Given the description of an element on the screen output the (x, y) to click on. 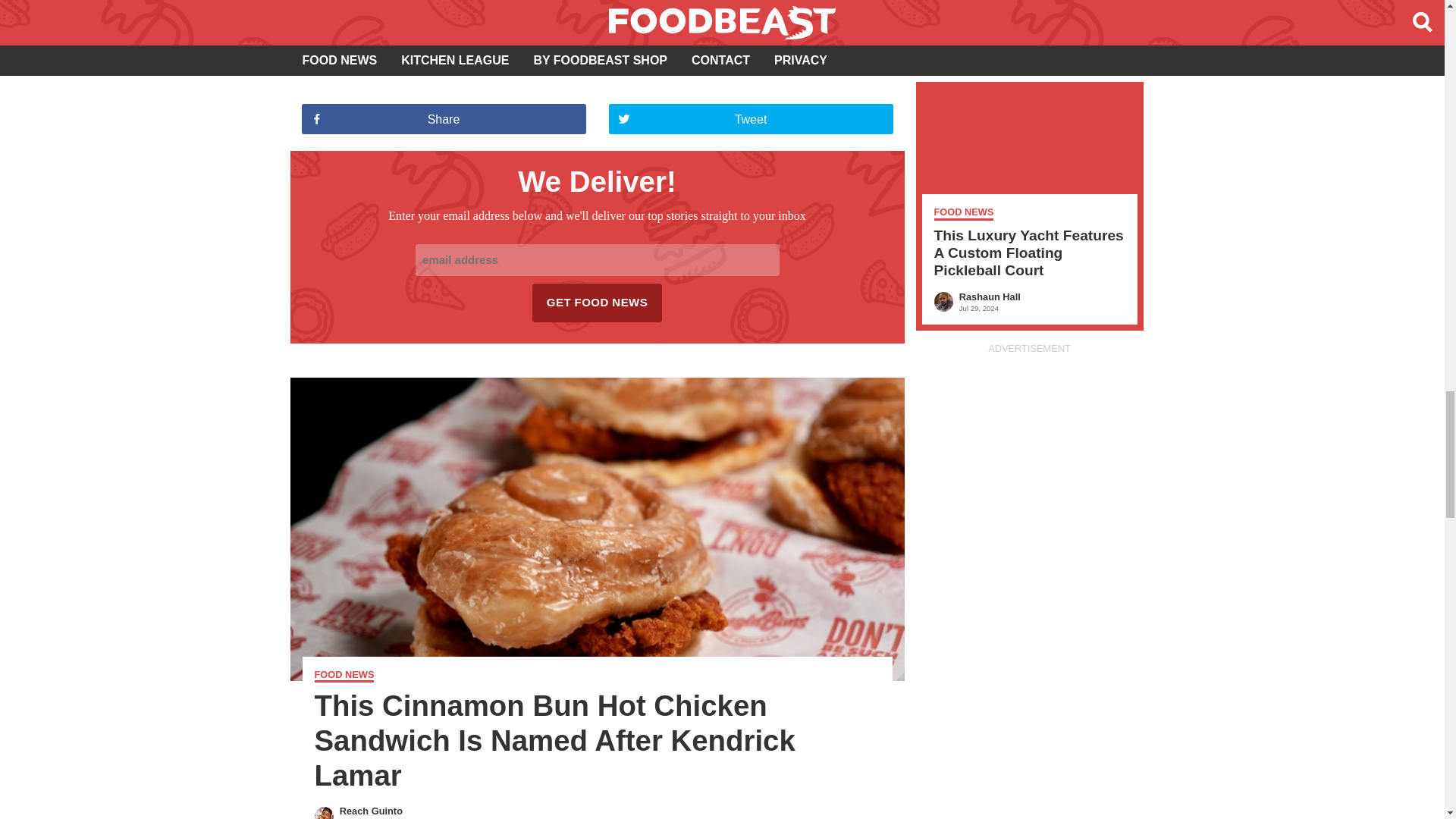
here (759, 59)
GET FOOD NEWS (597, 302)
Share (443, 119)
Tweet (750, 119)
GET FOOD NEWS (597, 302)
